Given the description of an element on the screen output the (x, y) to click on. 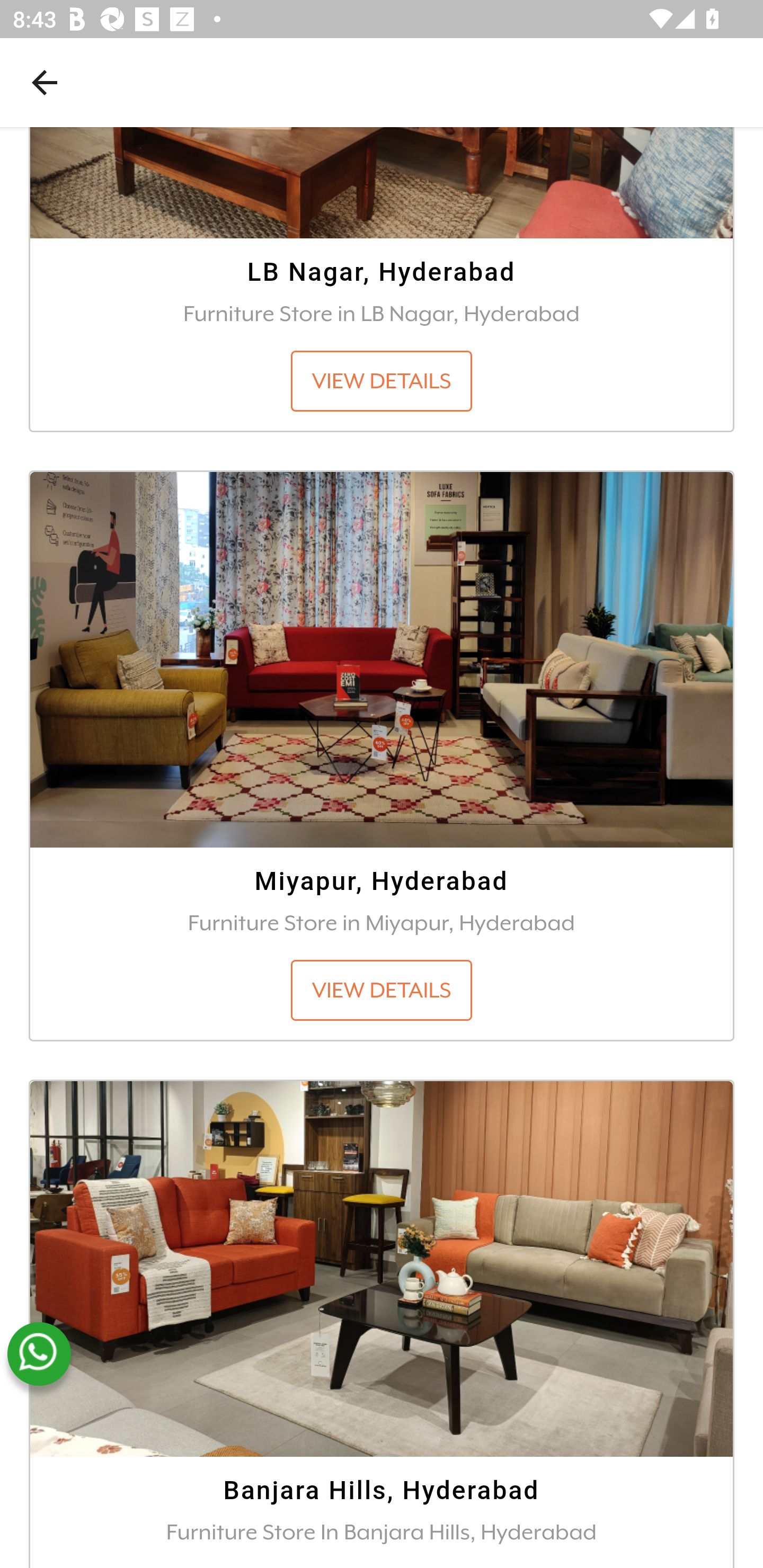
Navigate up (44, 82)
VIEW DETAILS (381, 382)
VIEW DETAILS (381, 991)
whatsapp (38, 1354)
